Given the description of an element on the screen output the (x, y) to click on. 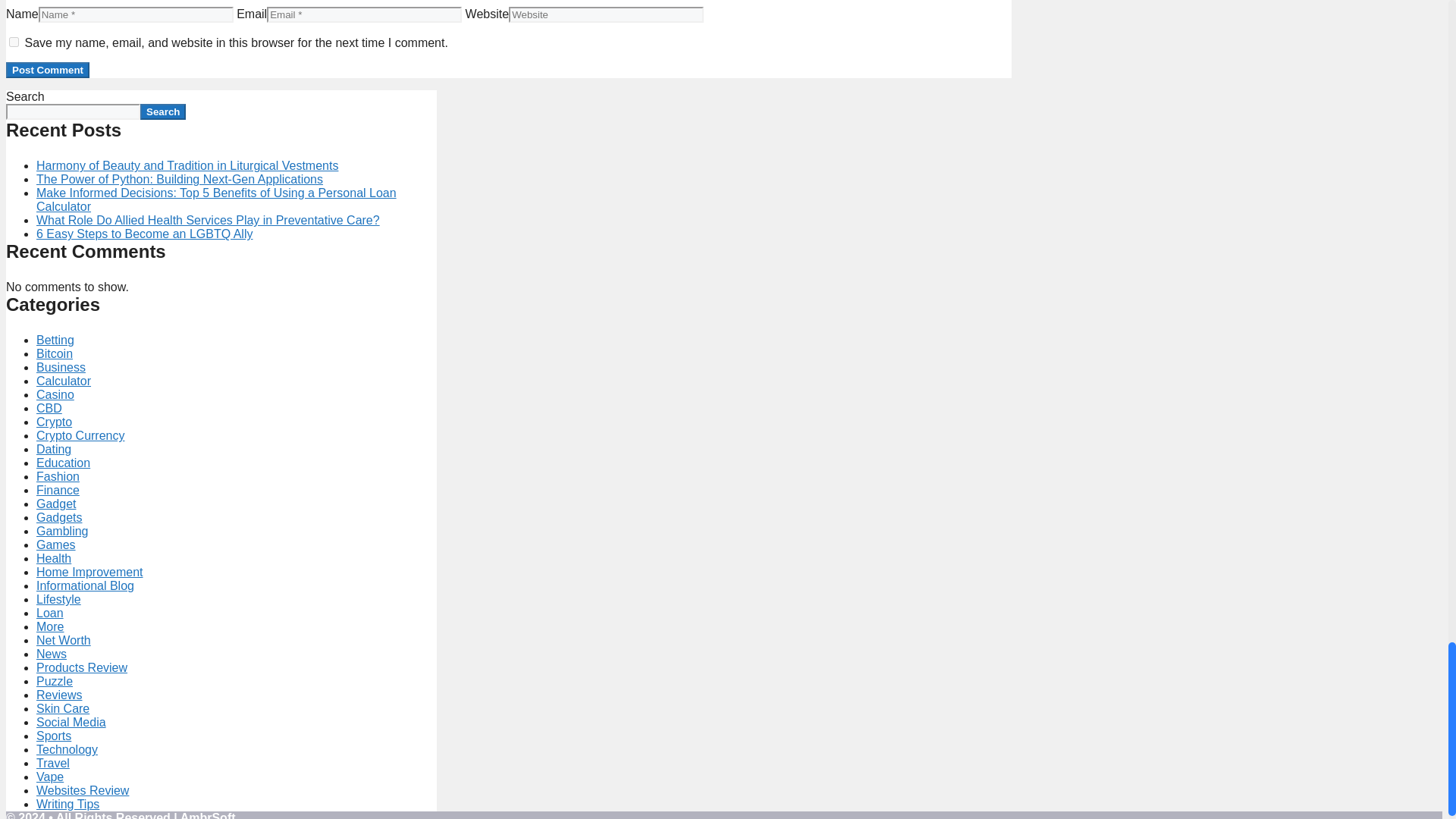
Education (63, 462)
Business (60, 367)
Fashion (58, 476)
CBD (49, 408)
Search (162, 111)
Post Comment (46, 69)
Post Comment (46, 69)
Dating (53, 449)
Betting (55, 339)
